Given the description of an element on the screen output the (x, y) to click on. 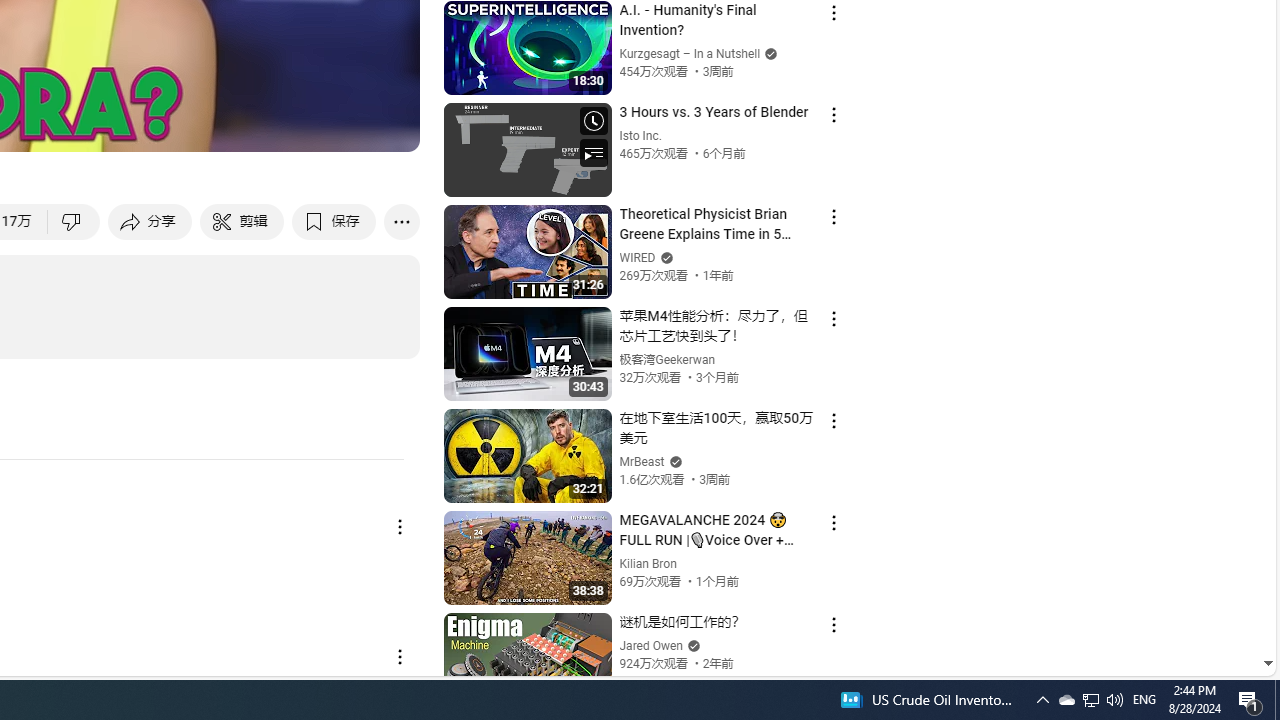
Class: ytp-subtitles-button-icon (190, 127)
